Given the description of an element on the screen output the (x, y) to click on. 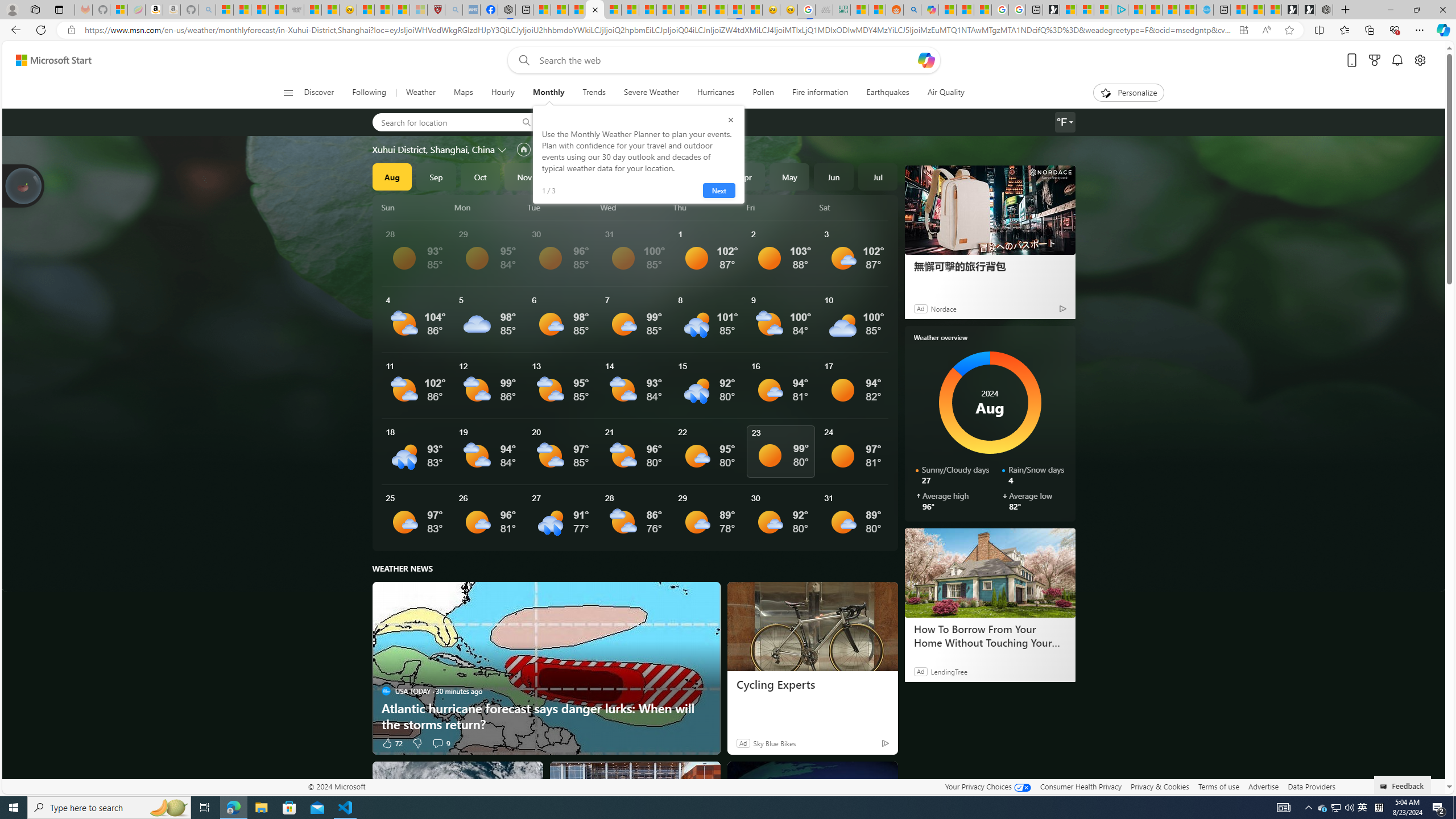
Fri (780, 207)
Aug (391, 176)
Pollen (763, 92)
2025Jan (612, 176)
Fire information (820, 92)
2025 Jan (612, 176)
USA TODAY (385, 690)
Search for location (440, 122)
